Given the description of an element on the screen output the (x, y) to click on. 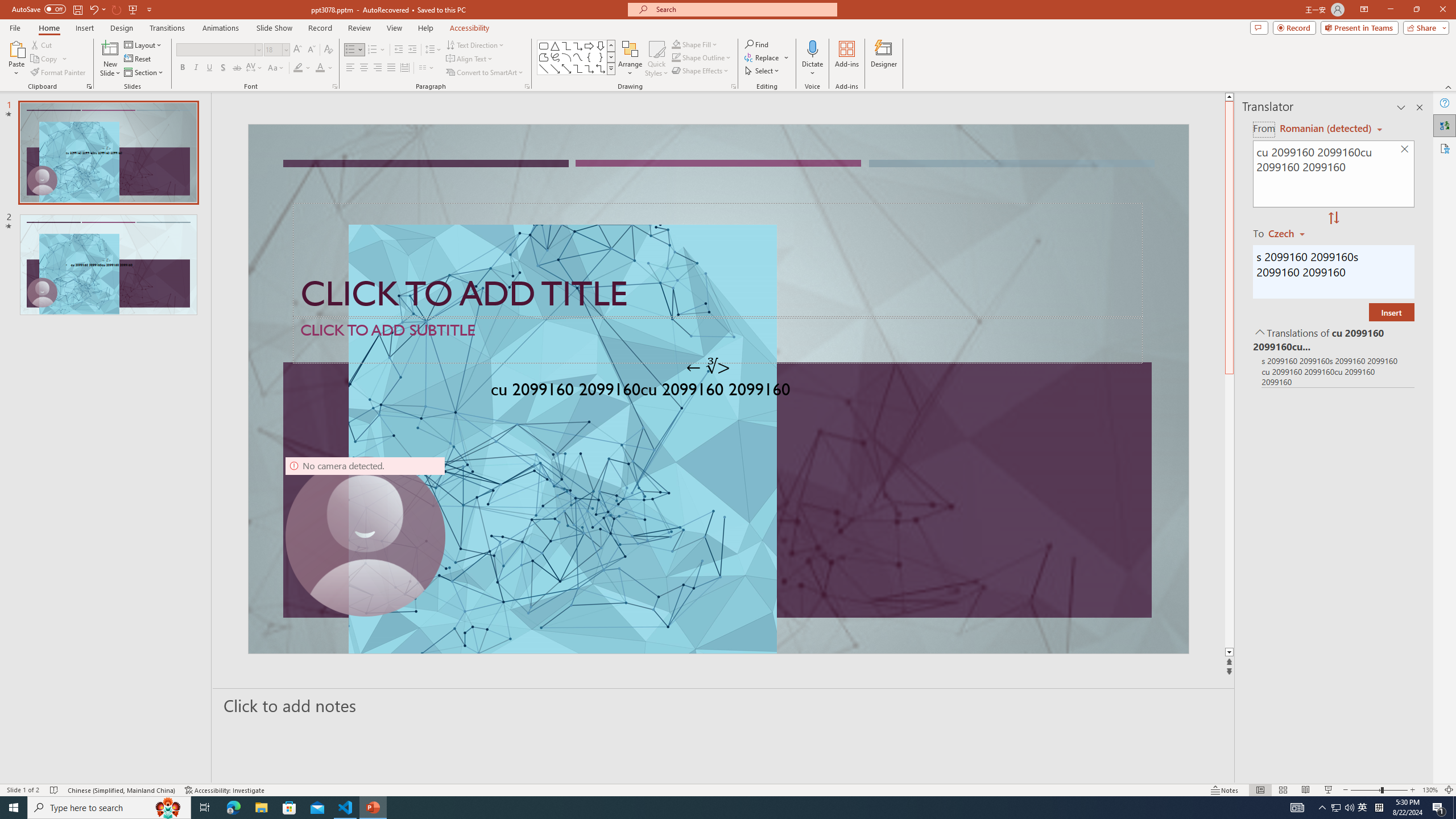
Line Arrow: Double (566, 68)
Distributed (404, 67)
Text Highlight Color (302, 67)
Line Spacing (433, 49)
Task Pane Options (1400, 107)
Right Brace (600, 57)
Paragraph... (526, 85)
Line up (1229, 96)
